Given the description of an element on the screen output the (x, y) to click on. 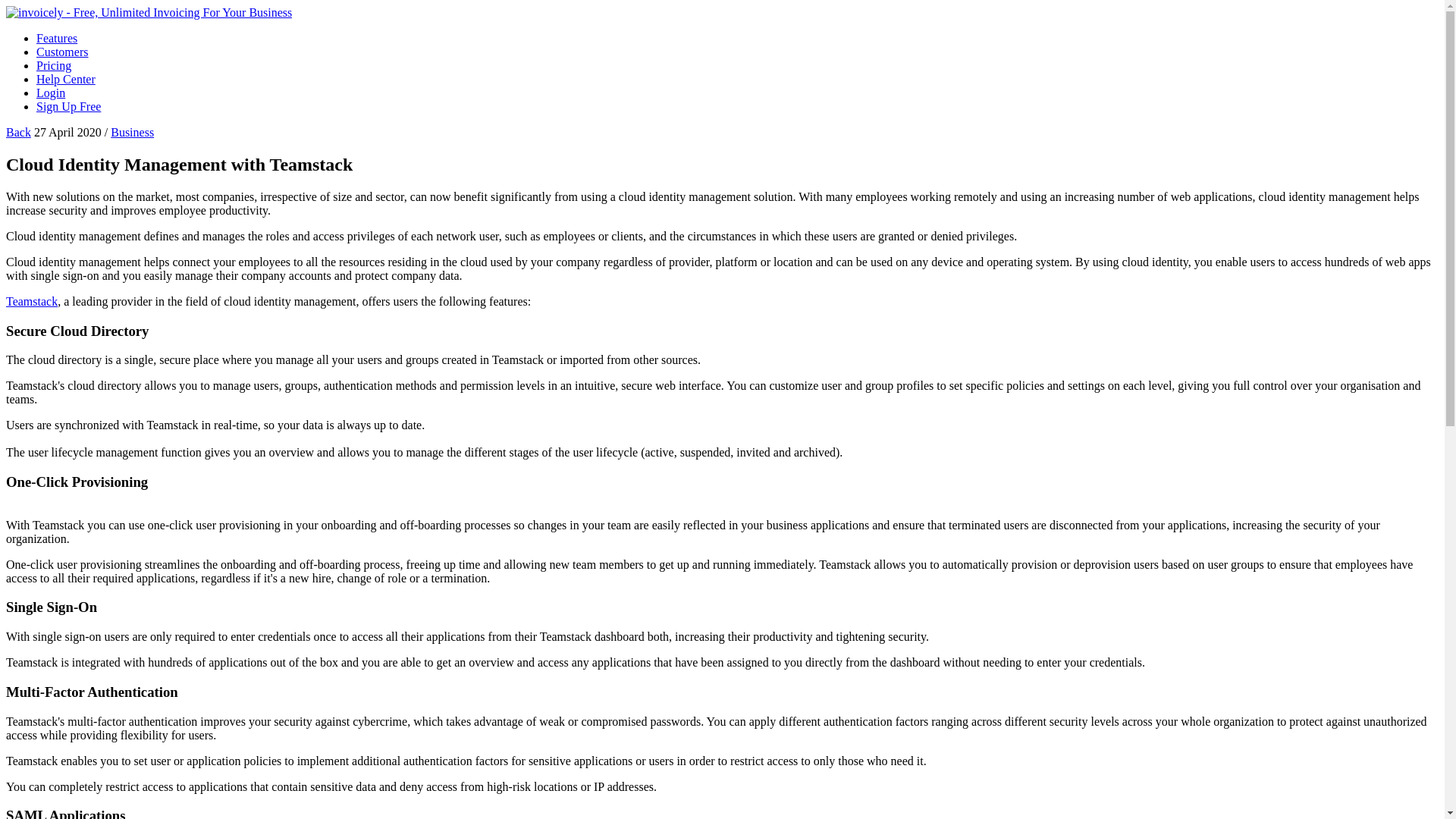
Teamstack (31, 300)
Pricing (53, 65)
Login (50, 92)
Business (132, 132)
Back (17, 132)
Sign Up Free (68, 106)
Help Center (66, 78)
Back to Blog Overview (17, 132)
Features (56, 38)
Customers (61, 51)
invoicely Home (148, 11)
